Given the description of an element on the screen output the (x, y) to click on. 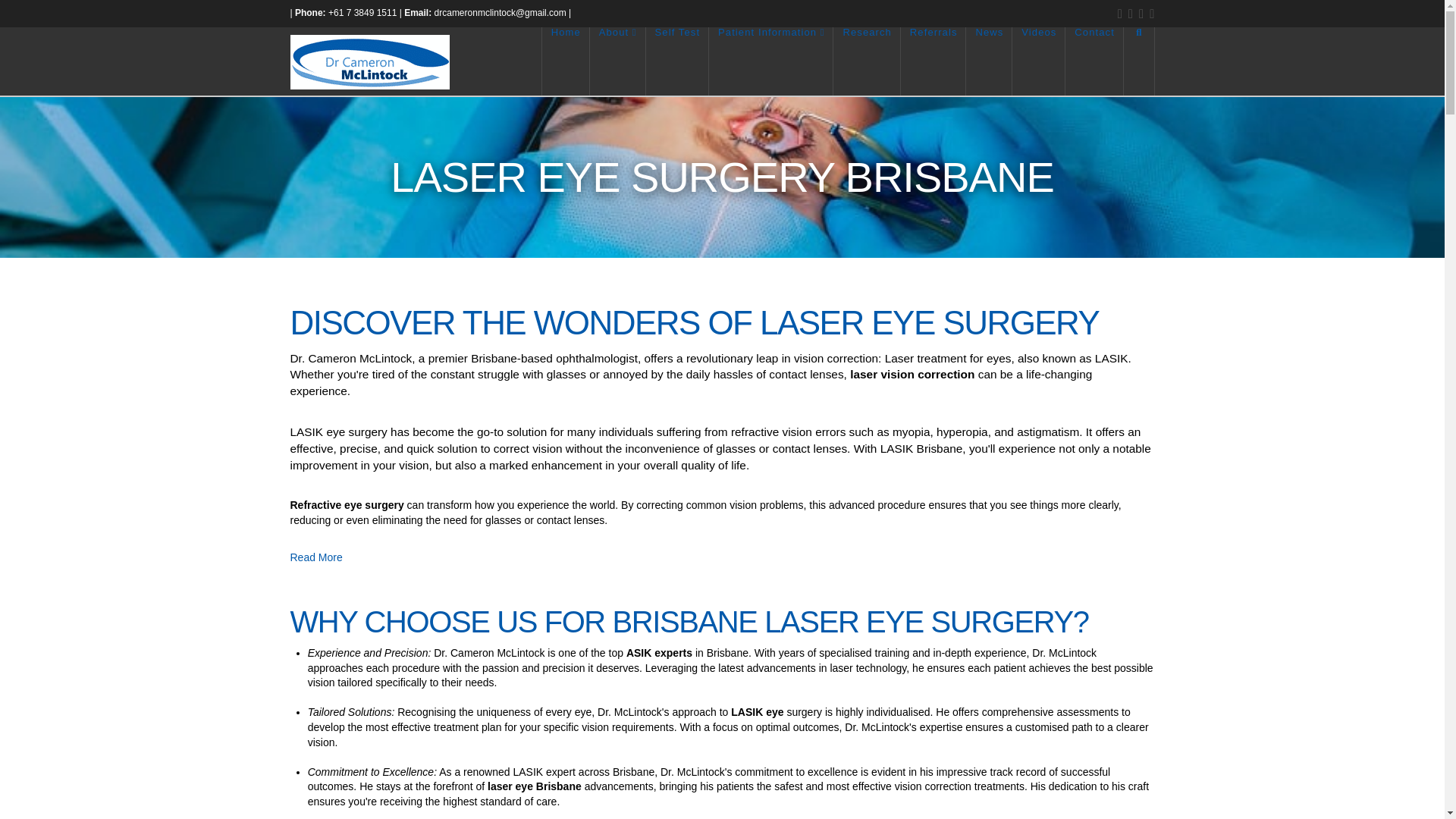
Self Test (677, 61)
Referrals (933, 61)
Research (865, 61)
Patient Information (770, 61)
